Given the description of an element on the screen output the (x, y) to click on. 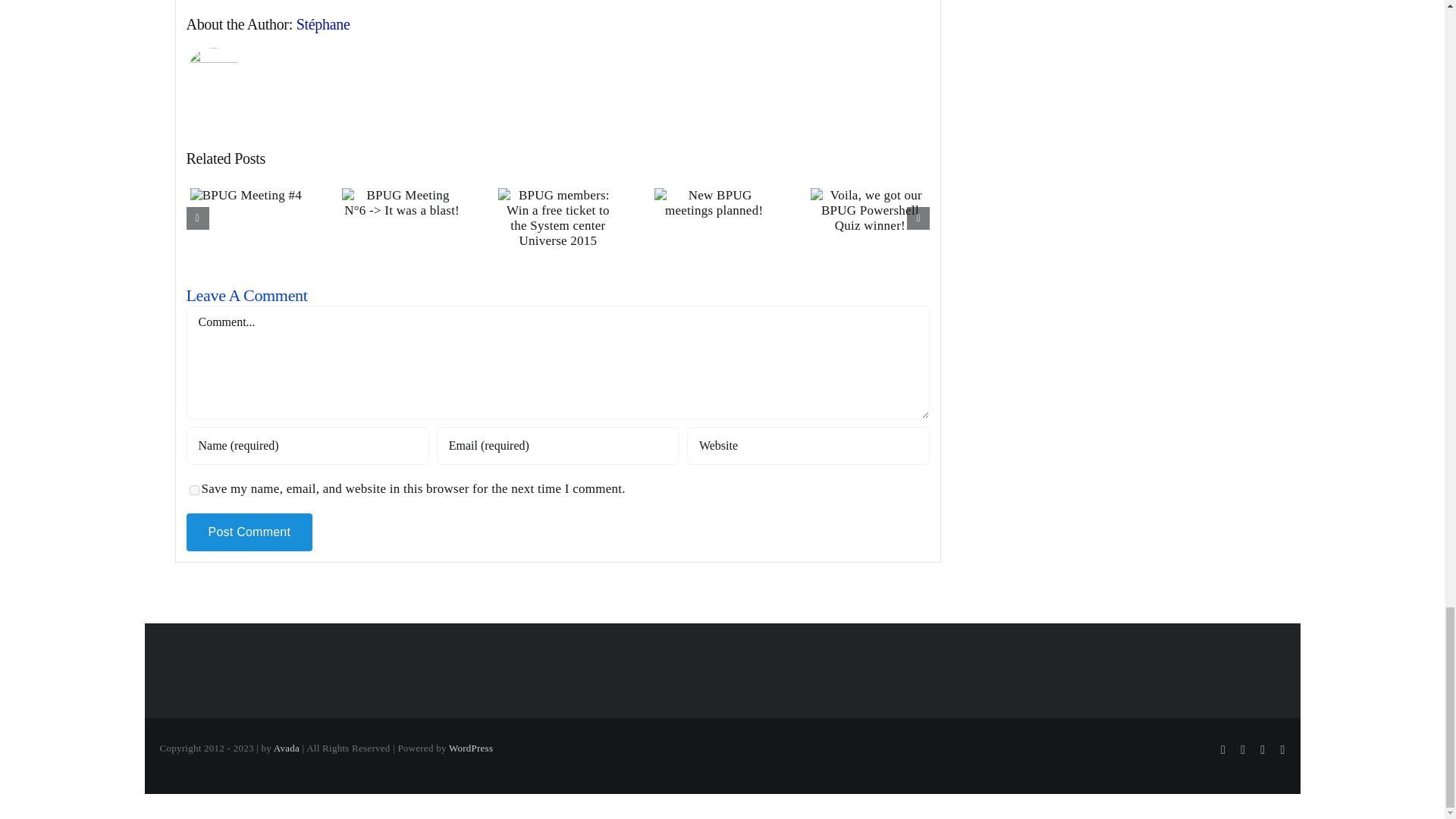
yes (194, 490)
Post Comment (249, 532)
